Given the description of an element on the screen output the (x, y) to click on. 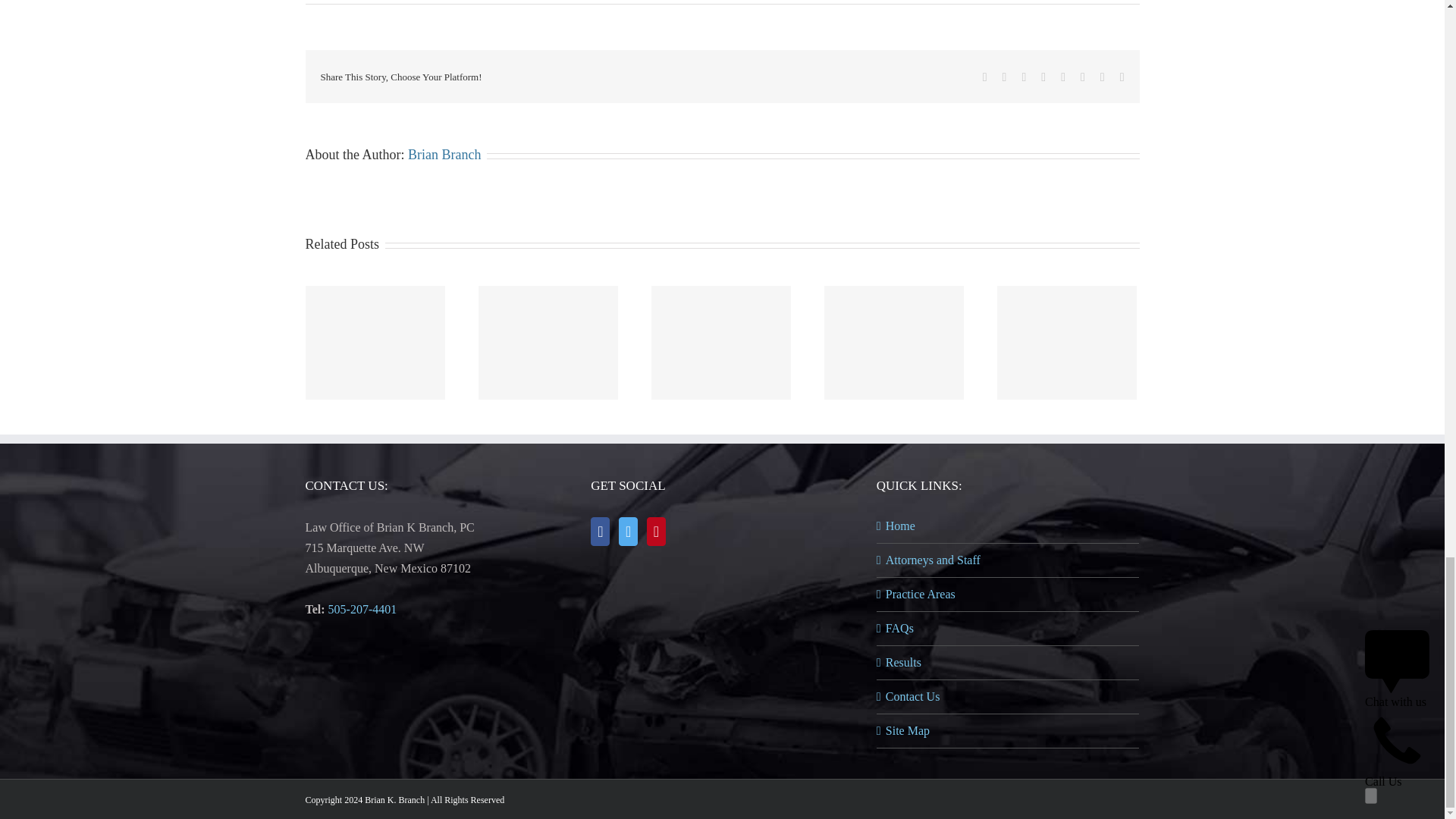
Posts by Brian Branch (443, 154)
